Given the description of an element on the screen output the (x, y) to click on. 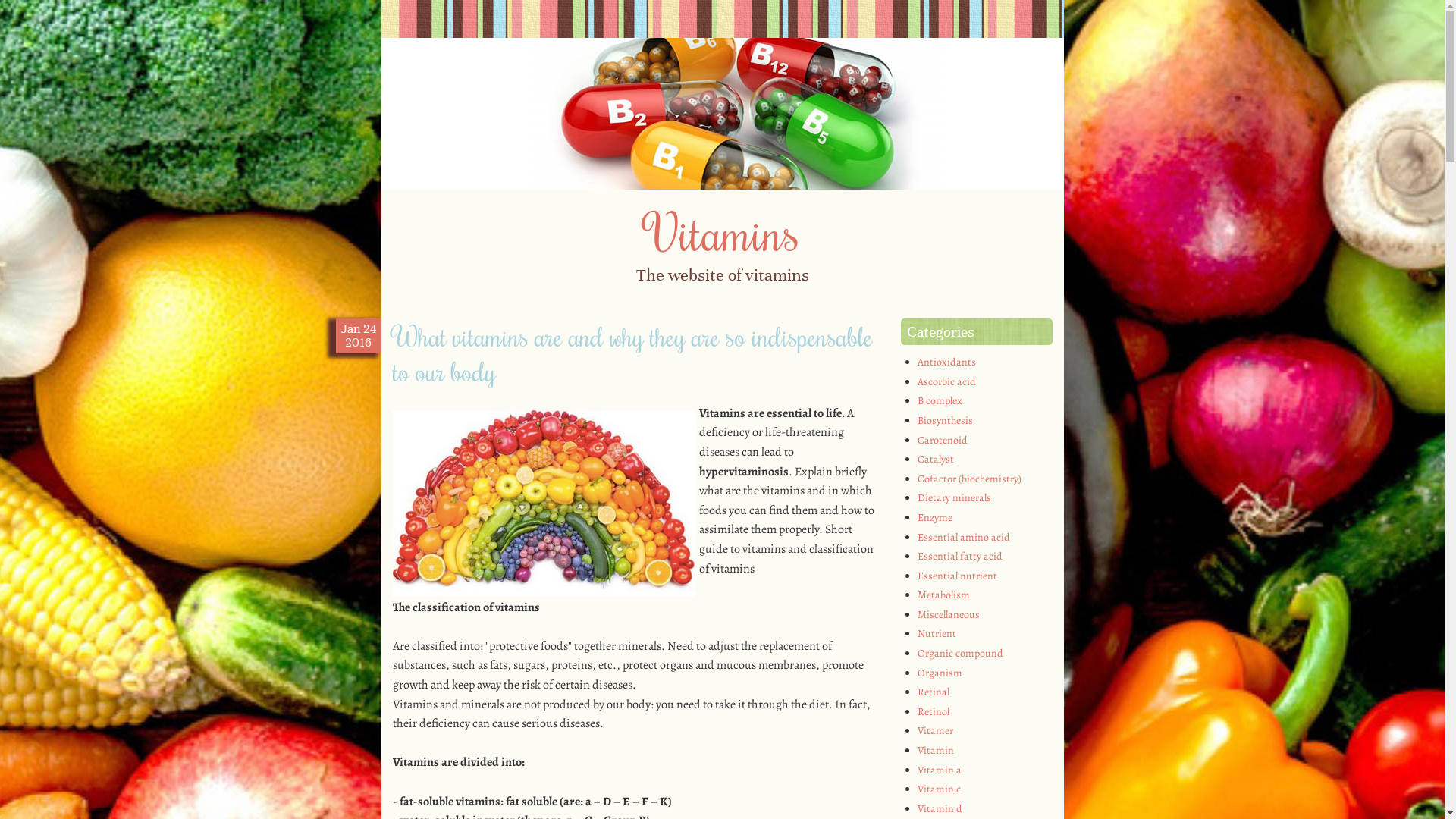
Miscellaneous Element type: text (948, 614)
Vitamins Element type: hover (721, 185)
Vitamin Element type: text (935, 750)
Biosynthesis Element type: text (944, 420)
Retinol Element type: text (933, 711)
Retinal Element type: text (933, 691)
Organism Element type: text (939, 672)
Catalyst Element type: text (935, 458)
Essential fatty acid Element type: text (959, 556)
Organic compound Element type: text (960, 653)
Metabolism Element type: text (943, 594)
Essential amino acid Element type: text (963, 536)
Vitamer Element type: text (935, 730)
Cofactor (biochemistry) Element type: text (969, 478)
Antioxidants Element type: text (946, 361)
Carotenoid Element type: text (942, 440)
Ascorbic acid Element type: text (946, 381)
Vitamin d Element type: text (939, 808)
Vitamin a Element type: text (939, 769)
Dietary minerals Element type: text (954, 497)
B complex Element type: text (939, 400)
Vitamins Element type: text (722, 231)
Vitamin c Element type: text (938, 788)
Nutrient Element type: text (936, 633)
Essential nutrient Element type: text (957, 575)
Enzyme Element type: text (934, 517)
Jan 24 2016 Element type: text (358, 335)
Skip to content Element type: text (433, 314)
